Given the description of an element on the screen output the (x, y) to click on. 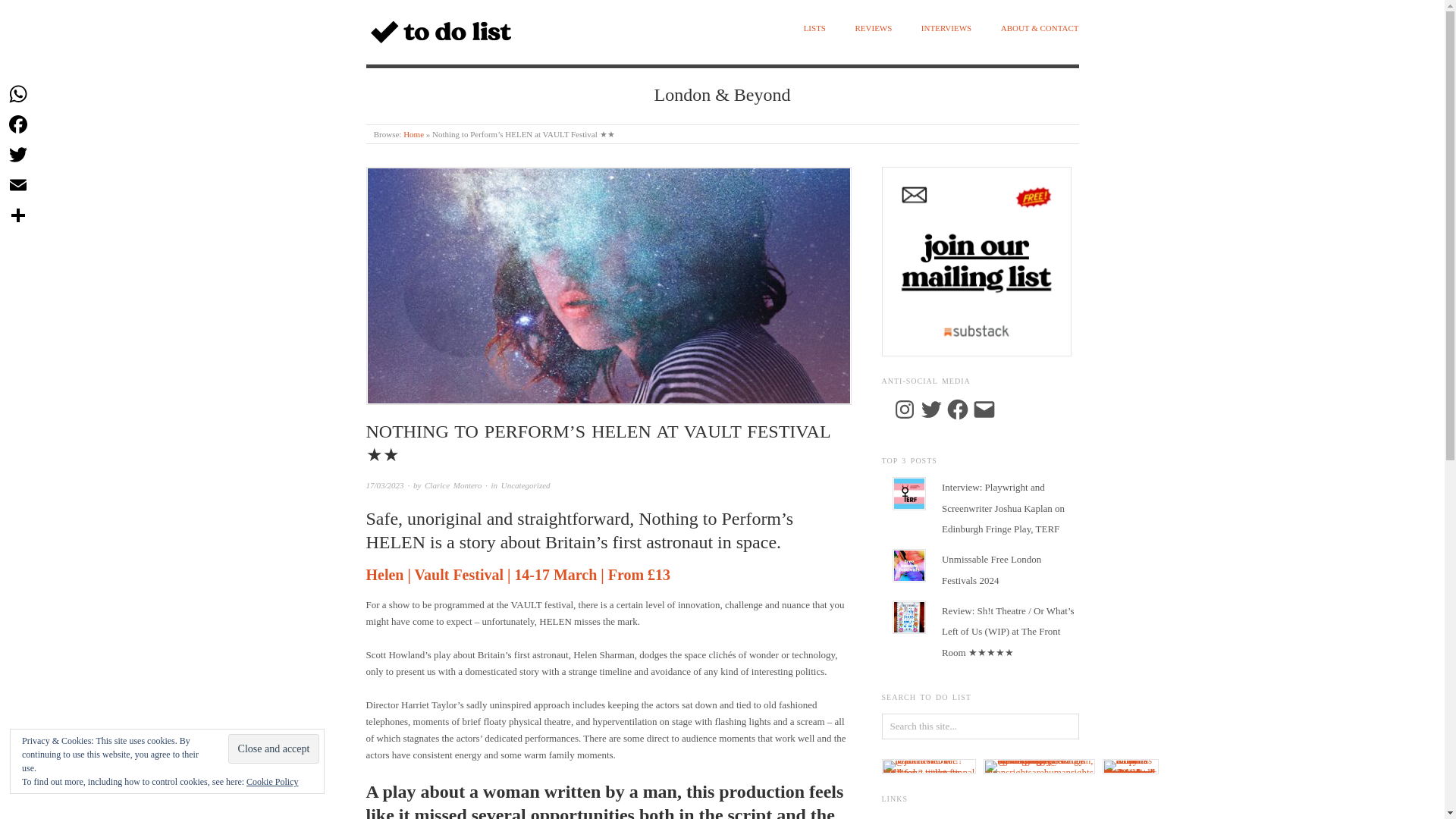
Close and accept (274, 748)
LISTS (814, 28)
Posts by Clarice Montero (453, 484)
TO DO LIST (422, 75)
REVIEWS (872, 28)
Home (413, 133)
Search this site... (979, 726)
Clarice Montero (453, 484)
Search this site... (979, 726)
To Do List (413, 133)
INTERVIEWS (946, 28)
Interviews (946, 28)
Uncategorized (525, 484)
